Given the description of an element on the screen output the (x, y) to click on. 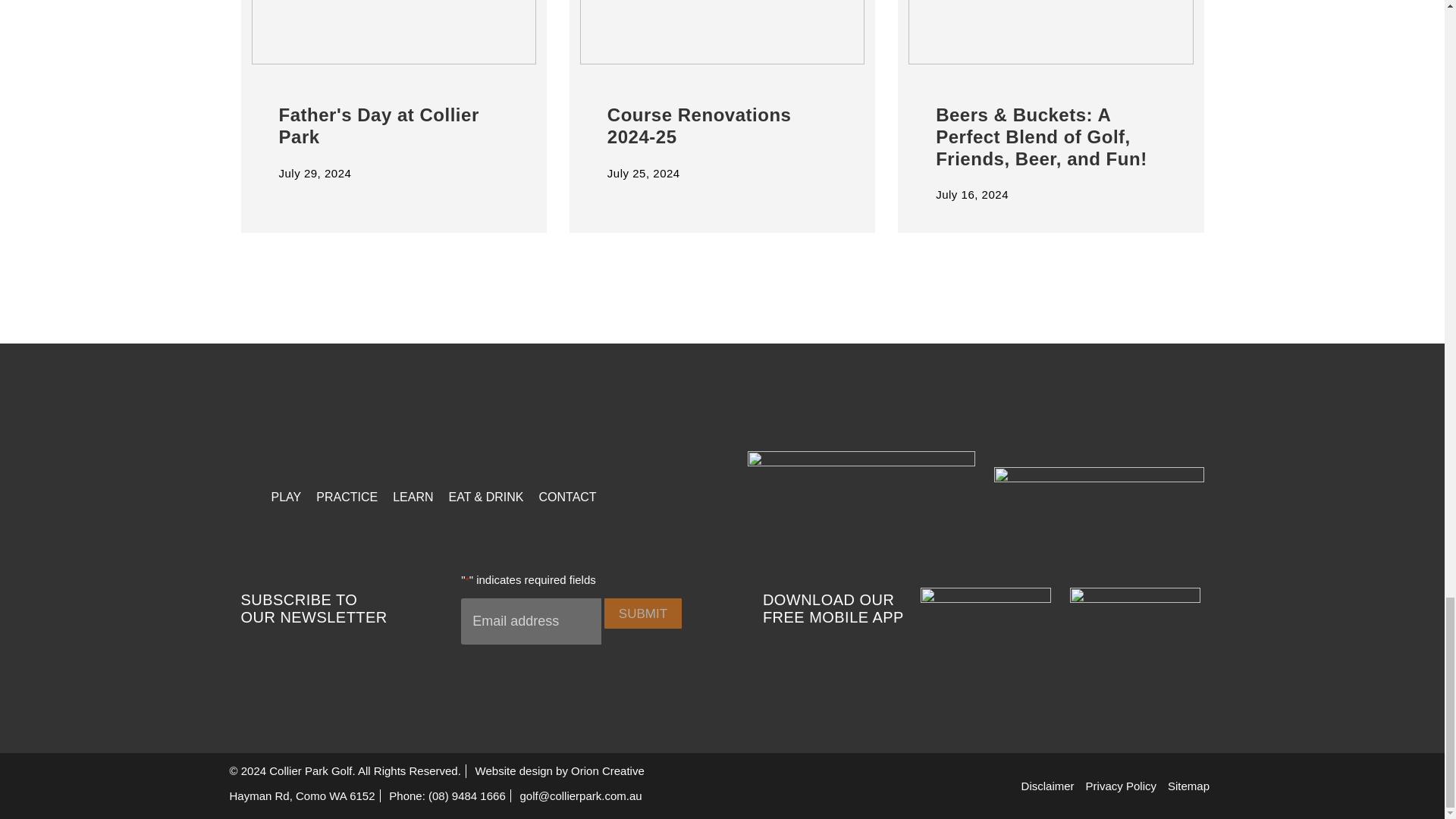
Submit (642, 613)
